Given the description of an element on the screen output the (x, y) to click on. 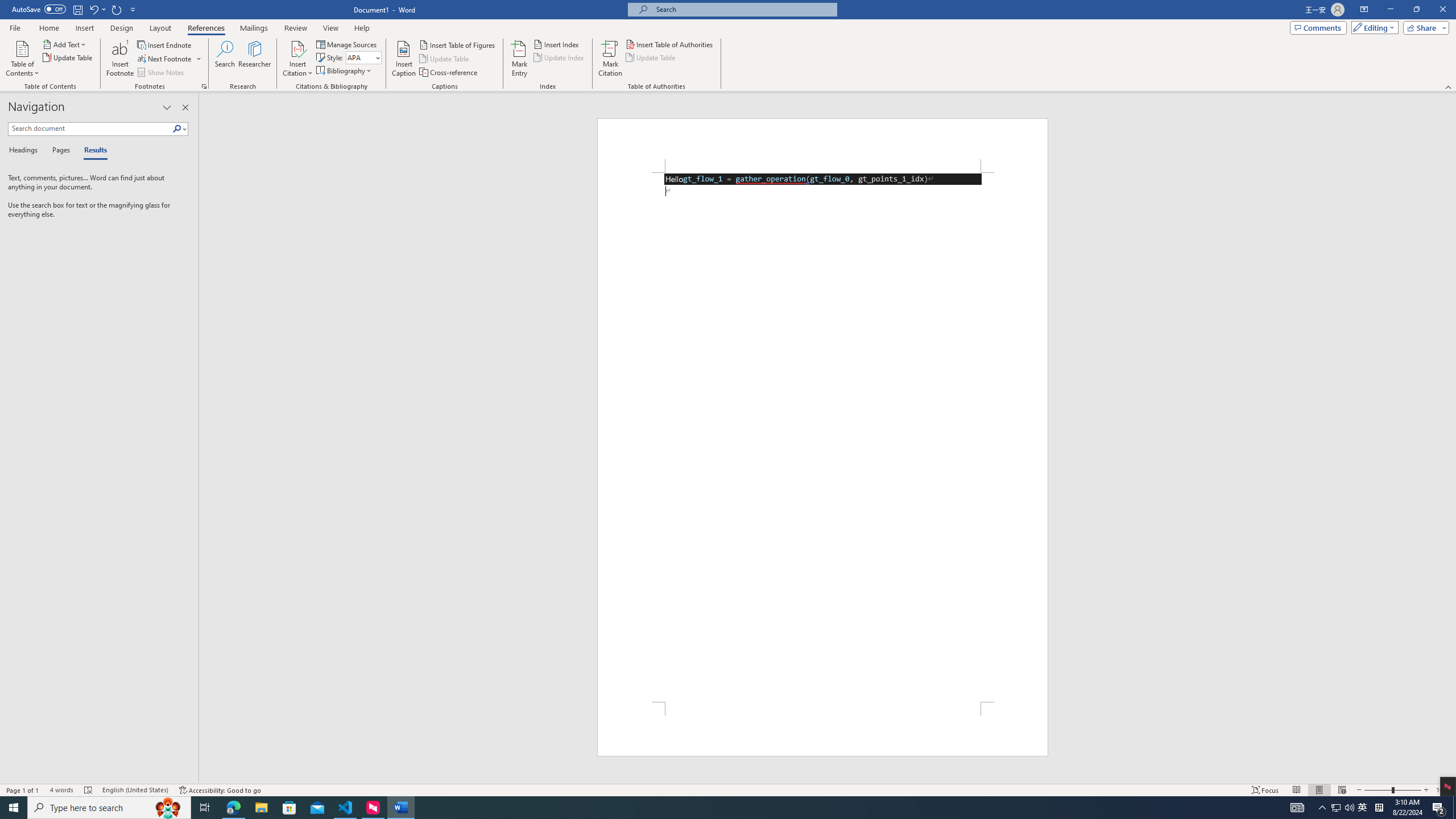
Undo Underline Style (96, 9)
Design (122, 28)
Update Table (651, 56)
Help (361, 28)
Next Footnote (169, 58)
Microsoft search (742, 9)
Headings (25, 150)
Page Number Page 1 of 1 (22, 790)
Restore Down (1416, 9)
Insert Table of Authorities... (670, 44)
Update Table... (68, 56)
Researcher (254, 58)
Page 1 content (822, 436)
Bibliography (344, 69)
